Given the description of an element on the screen output the (x, y) to click on. 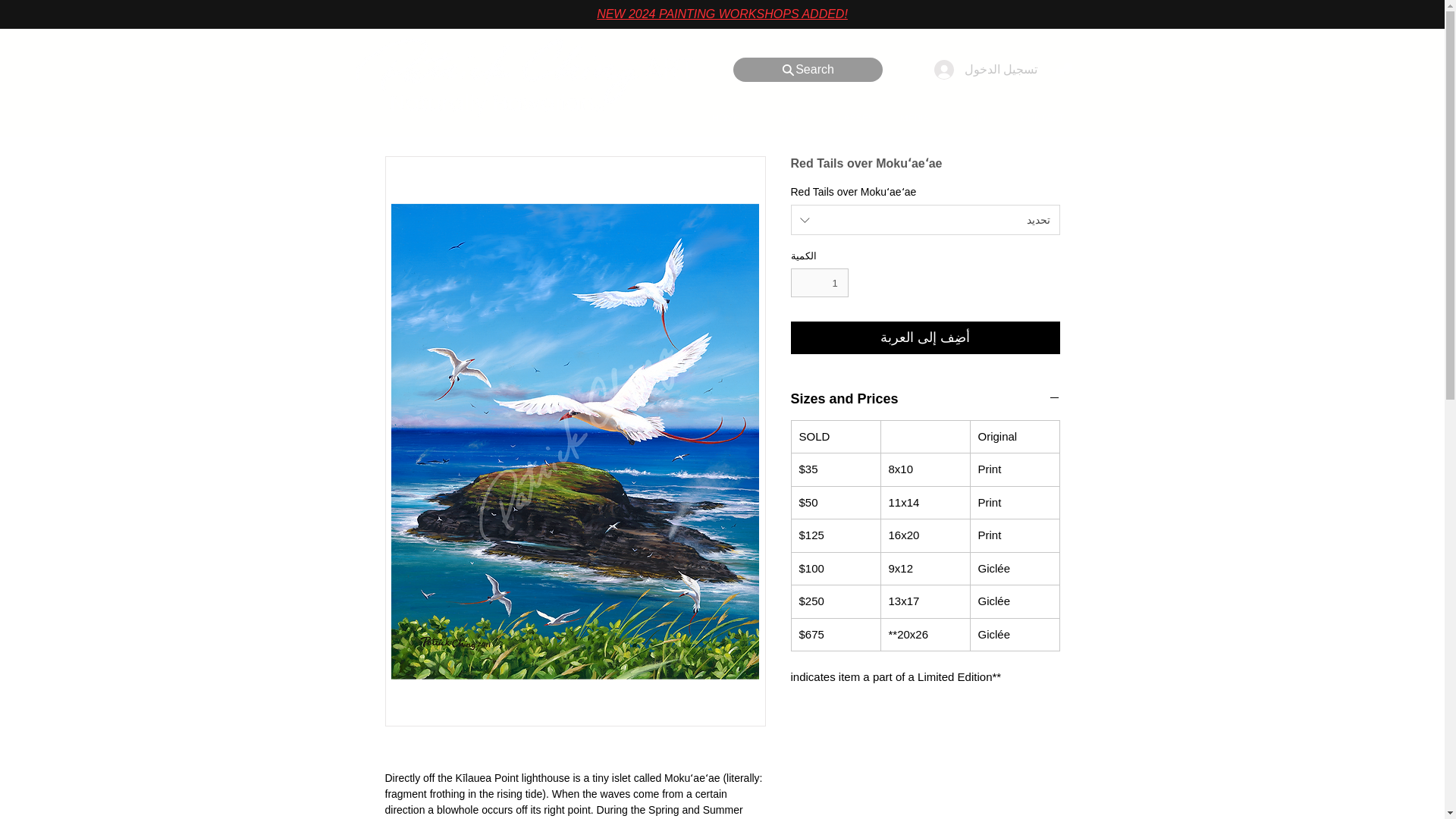
NEW 2024 PAINTING WORKSHOPS ADDED! (721, 13)
CLASSES (852, 118)
HOME (725, 118)
MEDIA (913, 118)
Sizes and Prices (924, 398)
BIO (977, 118)
ART (788, 118)
1 (818, 282)
CONTACT (1040, 118)
Search (807, 69)
